Given the description of an element on the screen output the (x, y) to click on. 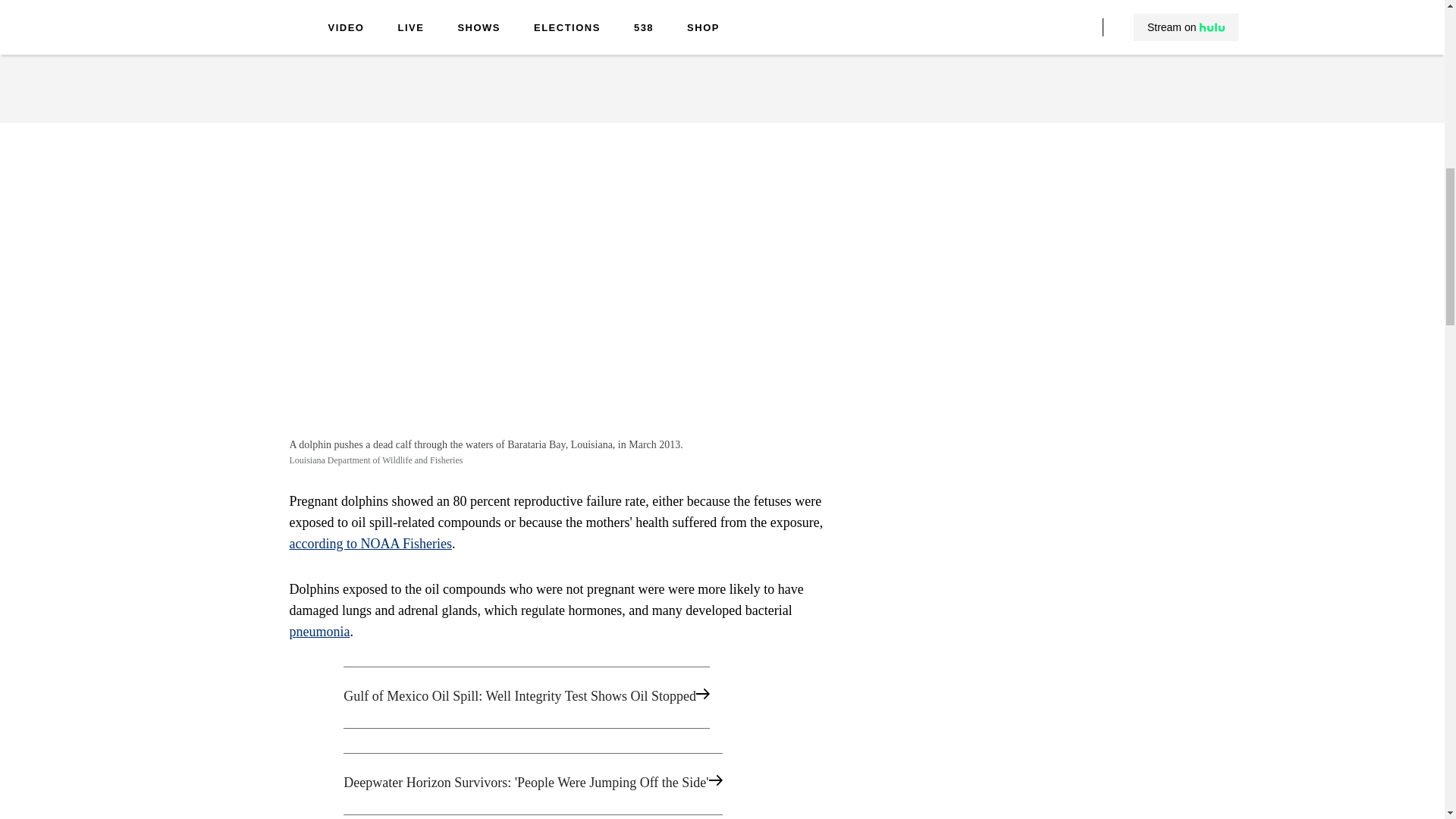
according to NOAA Fisheries (370, 543)
National Oceanic and Atmospheric Administration (523, 10)
pneumonia (319, 631)
